Given the description of an element on the screen output the (x, y) to click on. 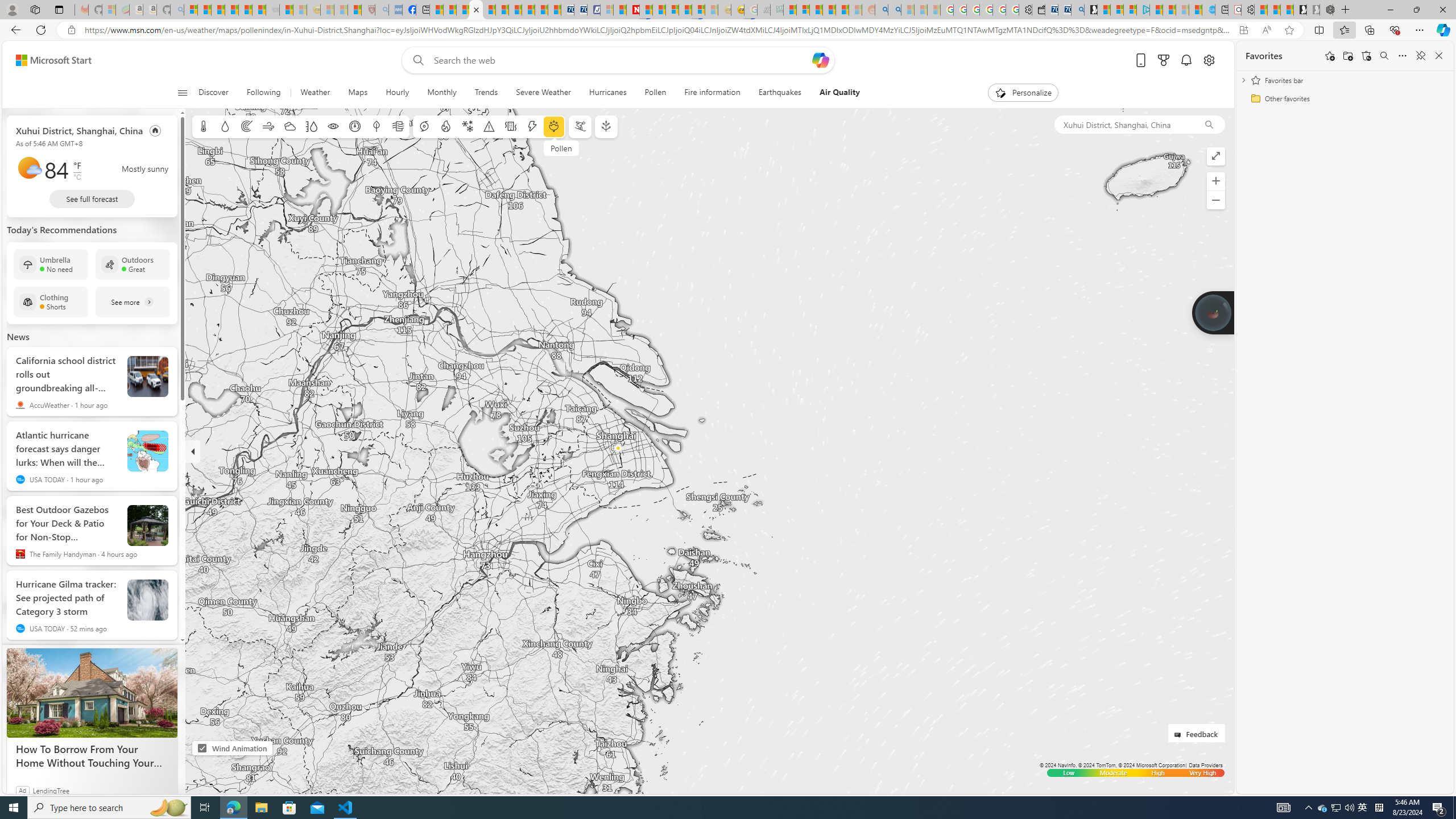
Class: feedback_link_icon-DS-EntryPoint1-1 (1179, 734)
Local - MSN (354, 9)
Clothing Shorts (50, 301)
Severe weather (489, 126)
Zoom in (1215, 180)
Pollen (654, 92)
